Given the description of an element on the screen output the (x, y) to click on. 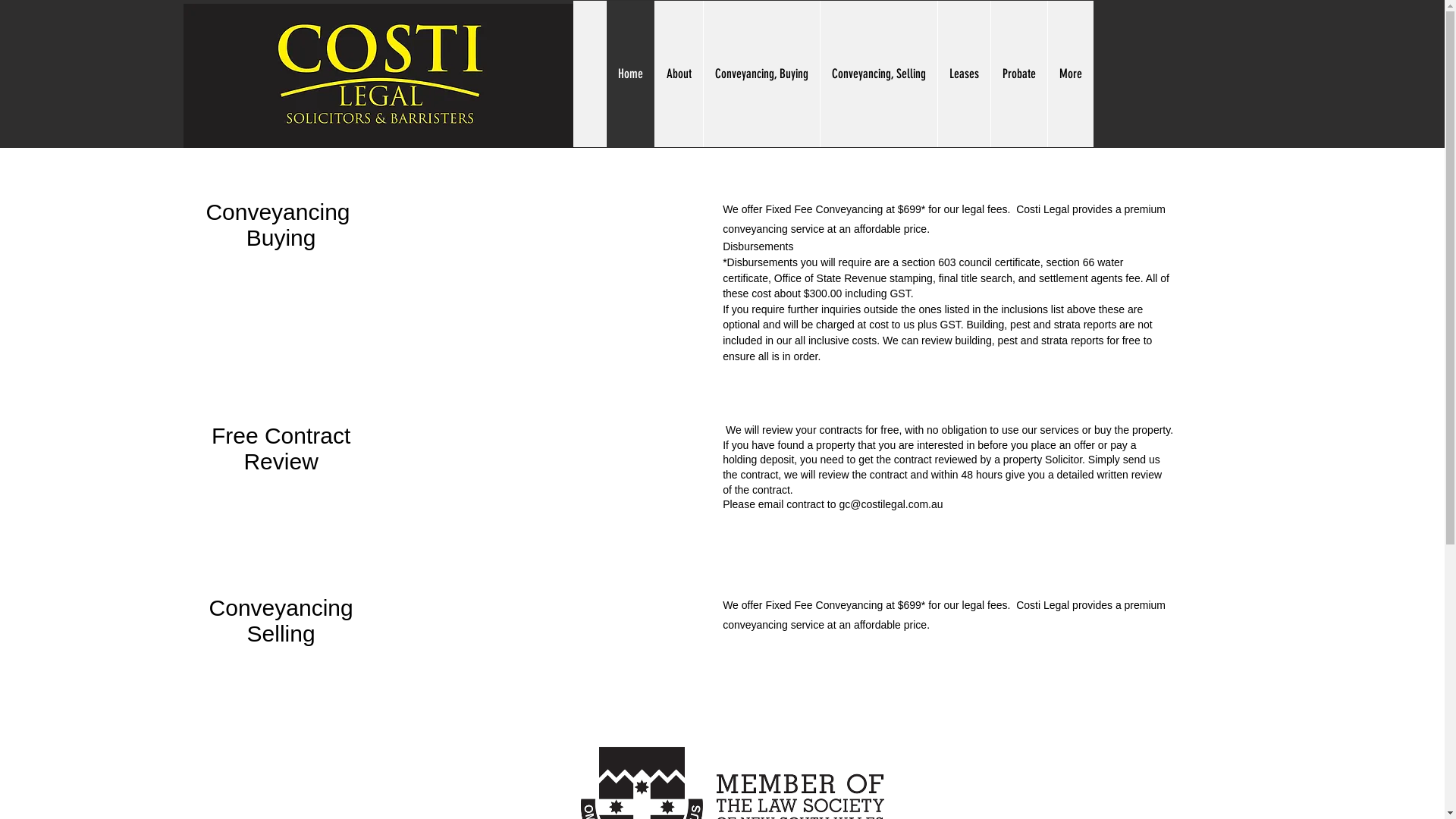
Leases Element type: text (963, 73)
Home Element type: text (629, 73)
gc@costilegal.com.au Element type: text (890, 504)
13995396_1794667304122356_54764356772626 Element type: hover (378, 75)
Conveyancing, Selling Element type: text (877, 73)
About Element type: text (677, 73)
Probate Element type: text (1018, 73)
Conveyancing, Buying Element type: text (760, 73)
